Given the description of an element on the screen output the (x, y) to click on. 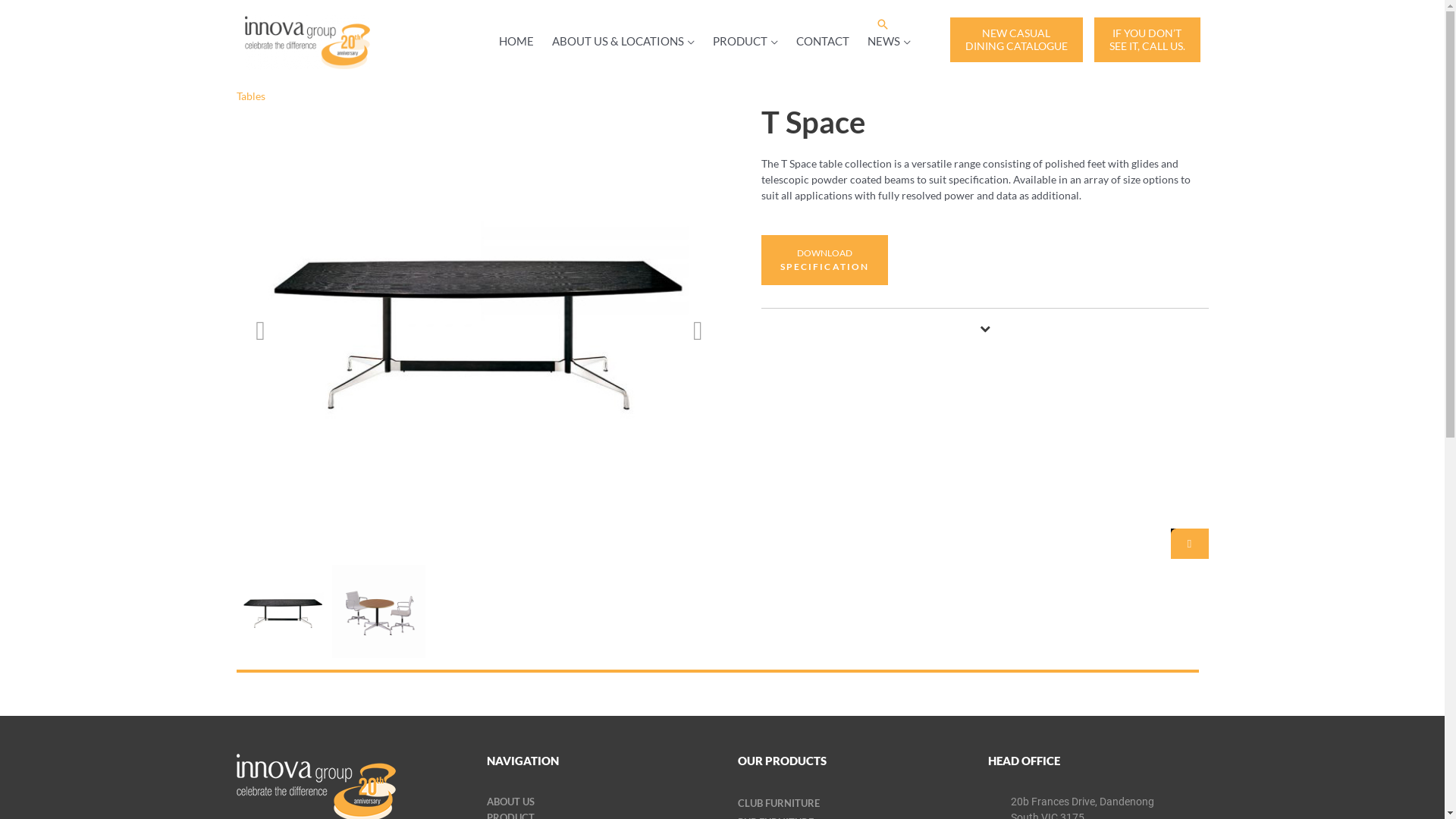
Previous Element type: text (260, 330)
ABOUT US Element type: text (510, 801)
NEW CASUAL
DINING CATALOGUE Element type: text (1015, 39)
PRODUCT Element type: text (745, 41)
Search Element type: text (881, 24)
Next Element type: text (697, 330)
ABOUT US & LOCATIONS Element type: text (622, 41)
DOWNLOAD
SPECIFICATION Element type: text (824, 265)
CONTACT Element type: text (822, 41)
CLUB FURNITURE Element type: text (778, 803)
Tables Element type: text (250, 95)
HOME Element type: text (515, 41)
NEWS Element type: text (888, 41)
